Given the description of an element on the screen output the (x, y) to click on. 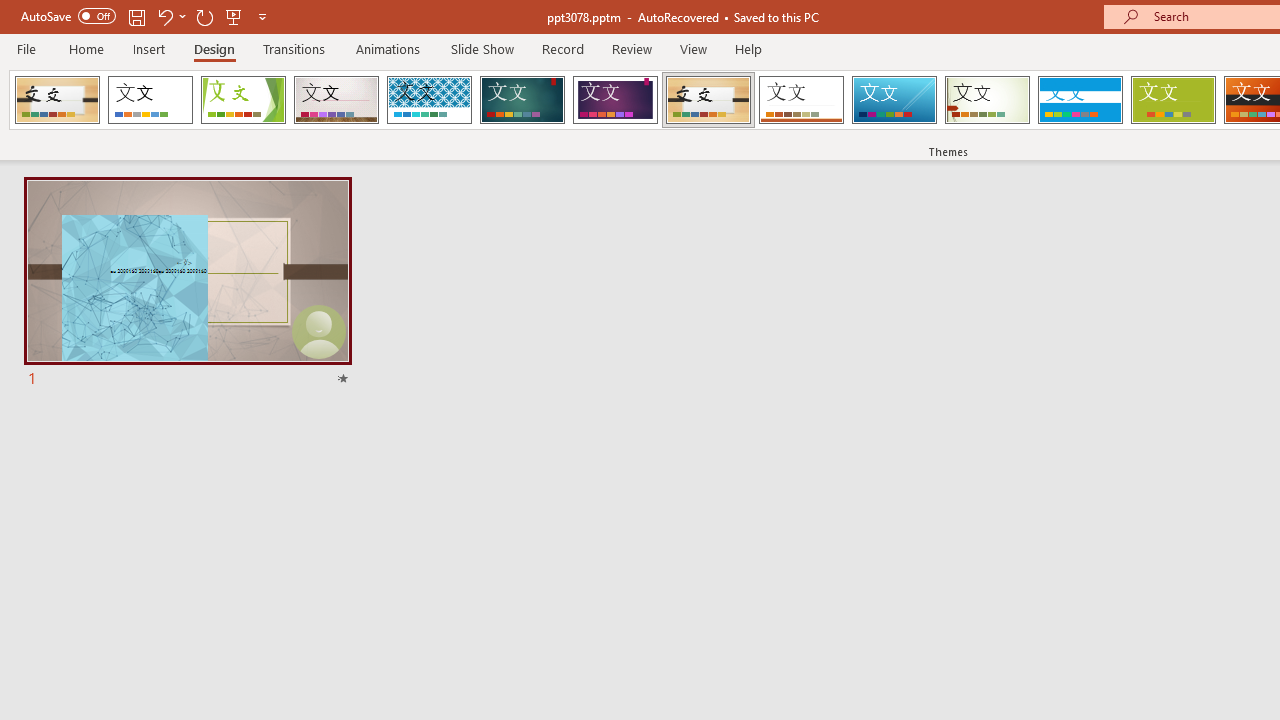
Office Theme (150, 100)
Banded (1080, 100)
Facet (243, 100)
Basis (1172, 100)
Integral (429, 100)
Ion Boardroom (615, 100)
